Given the description of an element on the screen output the (x, y) to click on. 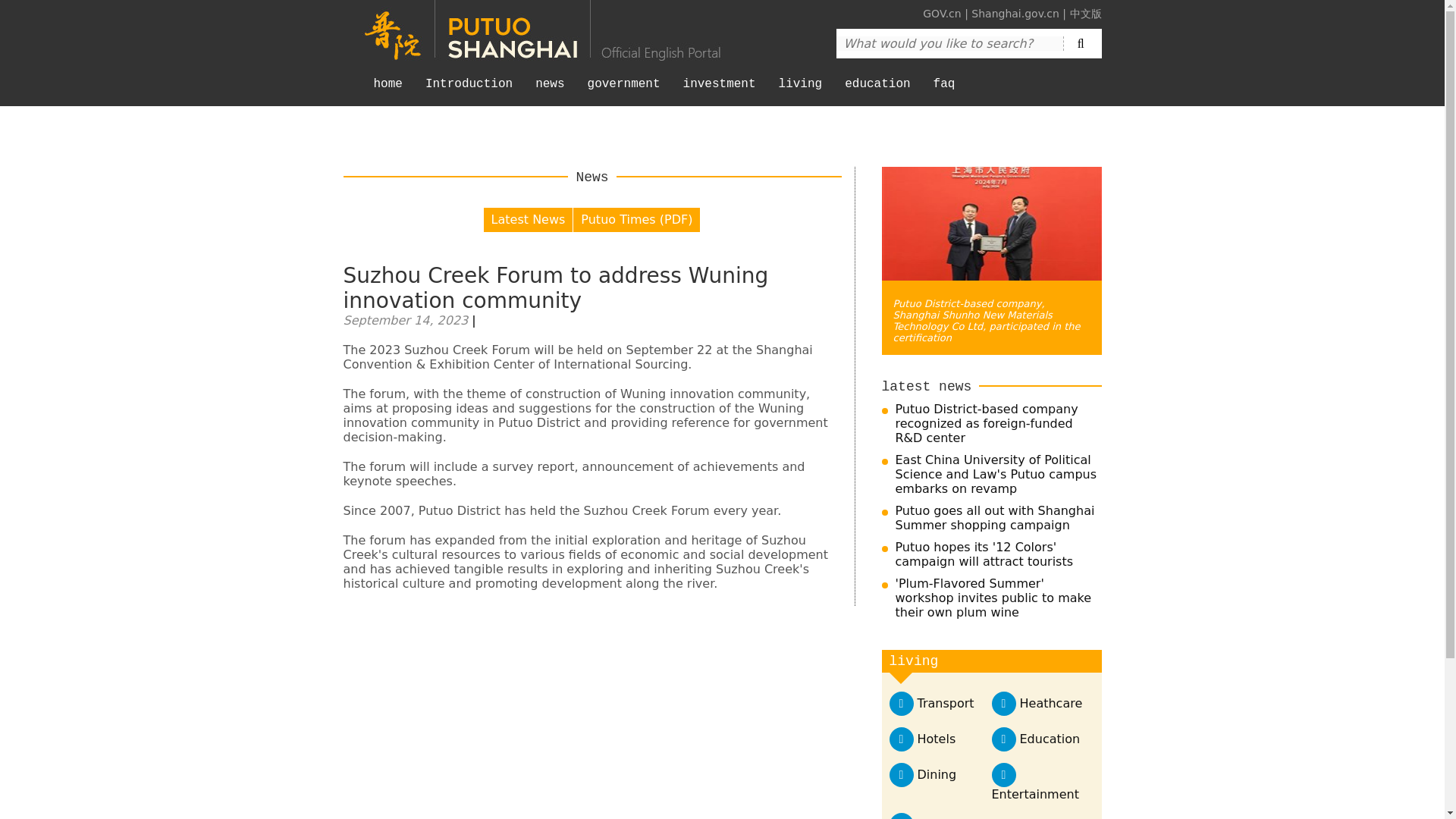
Transport (945, 703)
GOV.cn (941, 13)
government (623, 91)
Dining (936, 774)
Introduction (468, 91)
news (549, 91)
faq (943, 91)
education (876, 91)
Putuo hopes its '12 Colors' campaign will attract tourists (984, 553)
Putuo goes all out with Shanghai Summer shopping campaign (994, 517)
Entertainment (1034, 794)
living (800, 91)
Education (1049, 739)
home (387, 91)
